Given the description of an element on the screen output the (x, y) to click on. 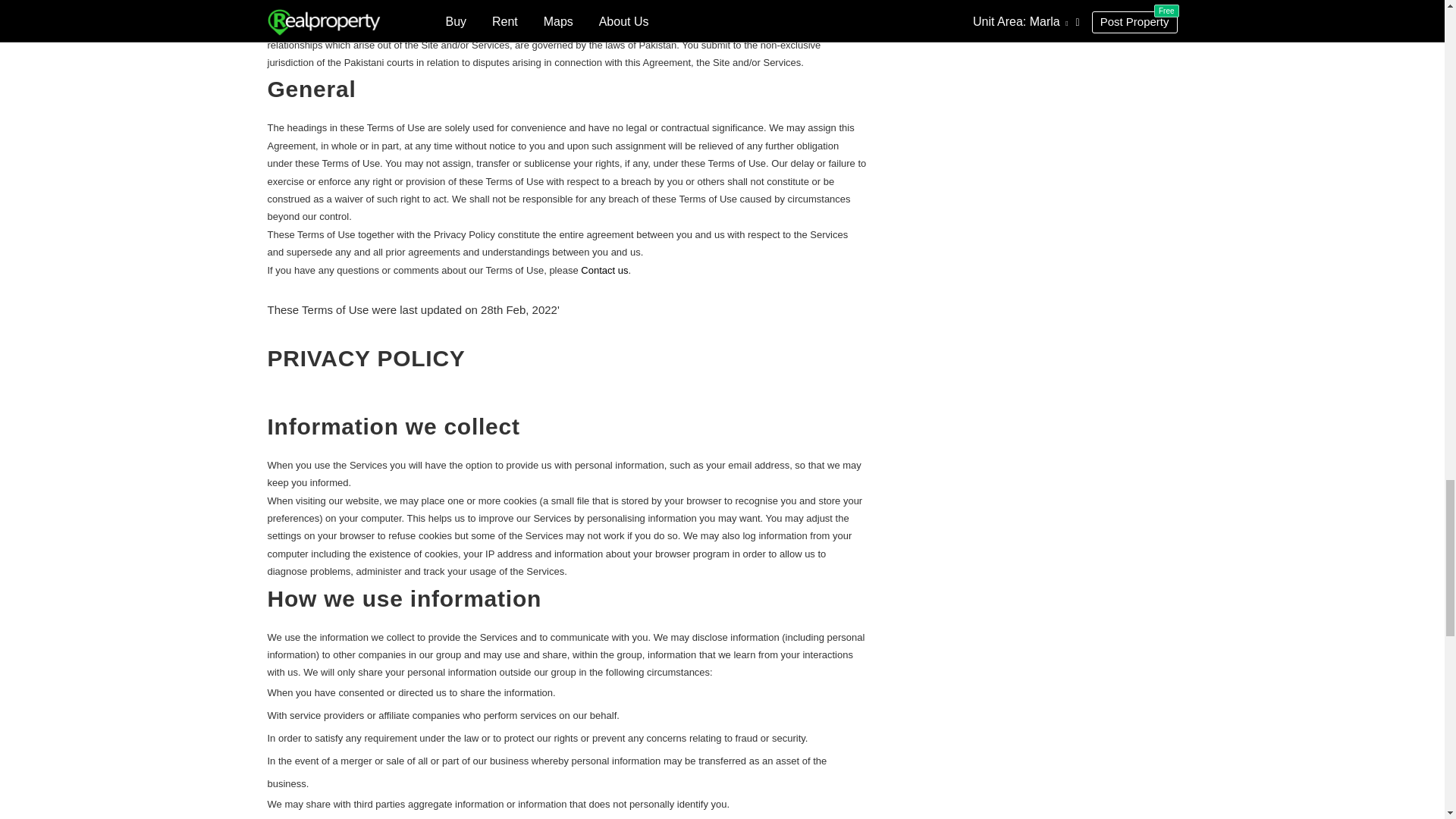
Contact us (603, 270)
